Given the description of an element on the screen output the (x, y) to click on. 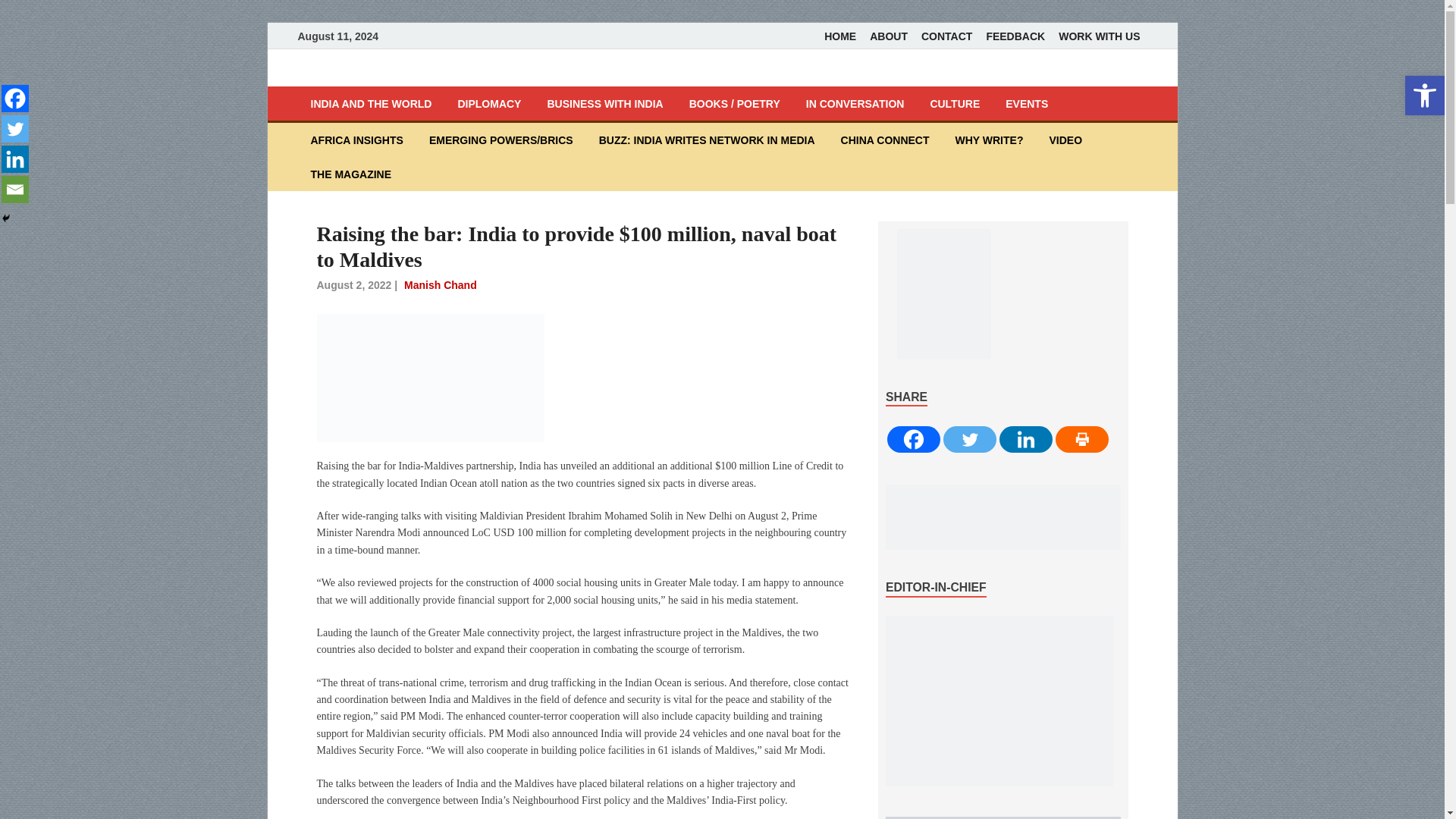
India Writes (376, 75)
IN CONVERSATION (855, 103)
Hide (5, 218)
Twitter (15, 128)
EVENTS (1026, 103)
INDIA AND THE WORLD (370, 103)
Email (15, 189)
Linkedin (15, 158)
Facebook (15, 98)
CONTACT (946, 35)
